Given the description of an element on the screen output the (x, y) to click on. 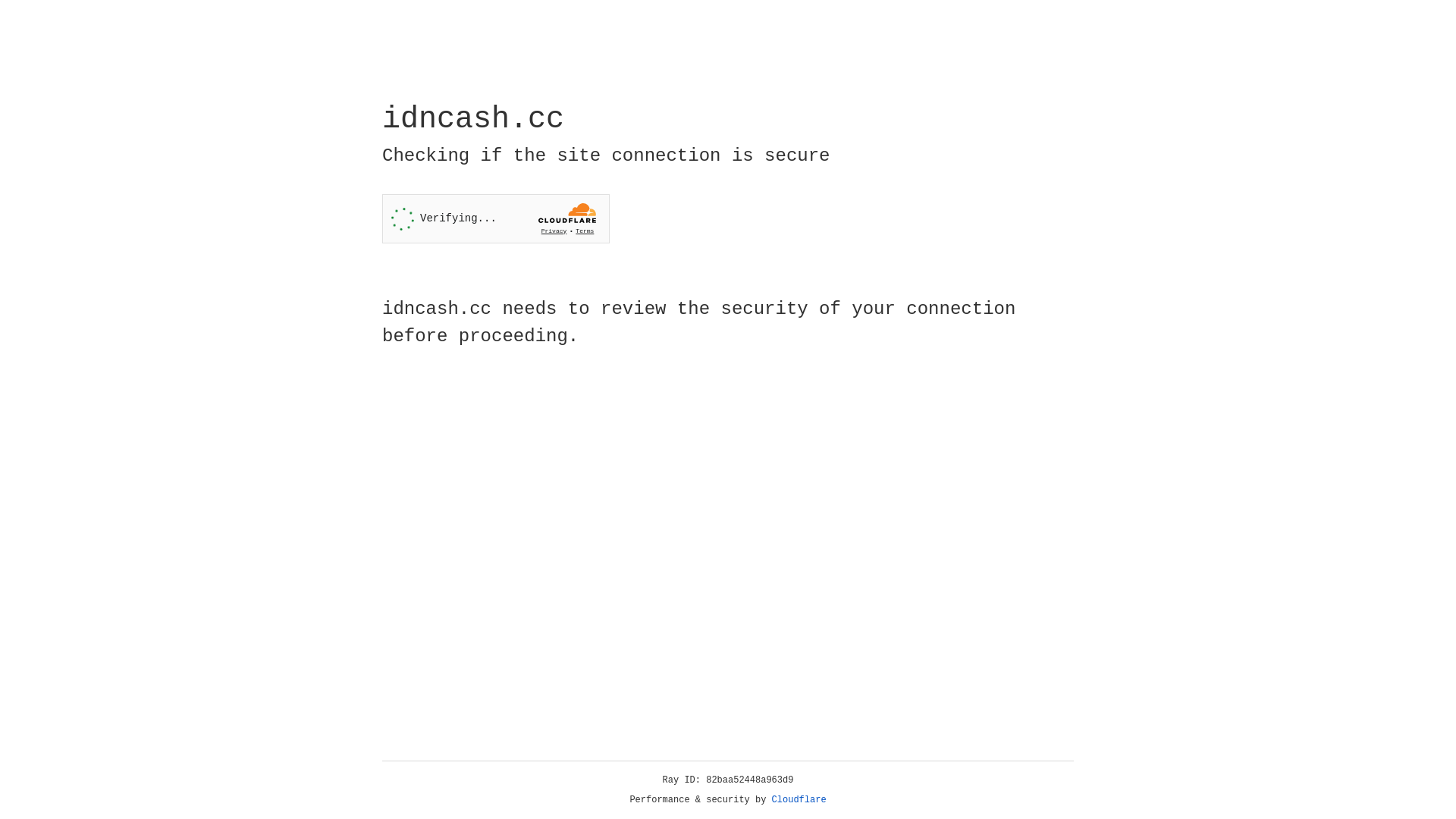
Cloudflare Element type: text (798, 799)
Widget containing a Cloudflare security challenge Element type: hover (495, 218)
